Given the description of an element on the screen output the (x, y) to click on. 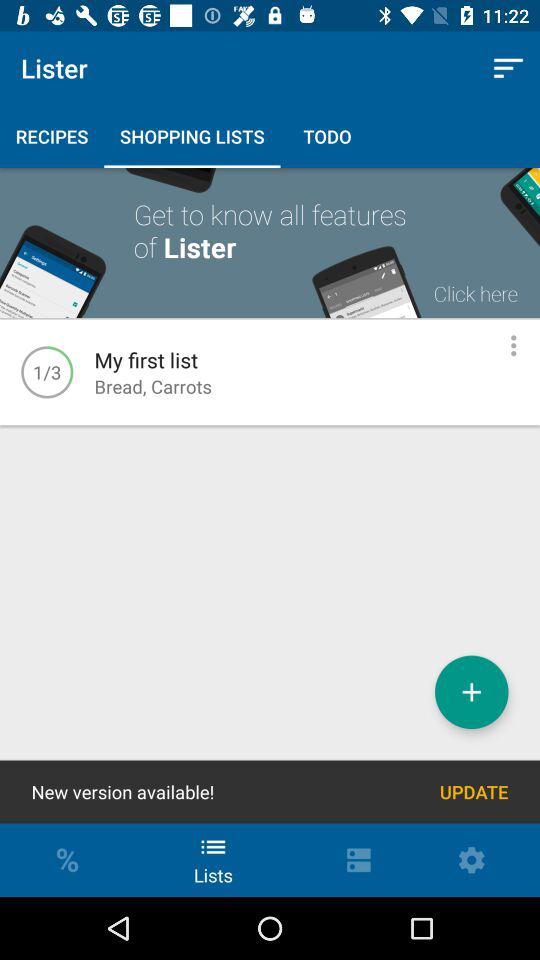
toggle lists menu (513, 345)
